Given the description of an element on the screen output the (x, y) to click on. 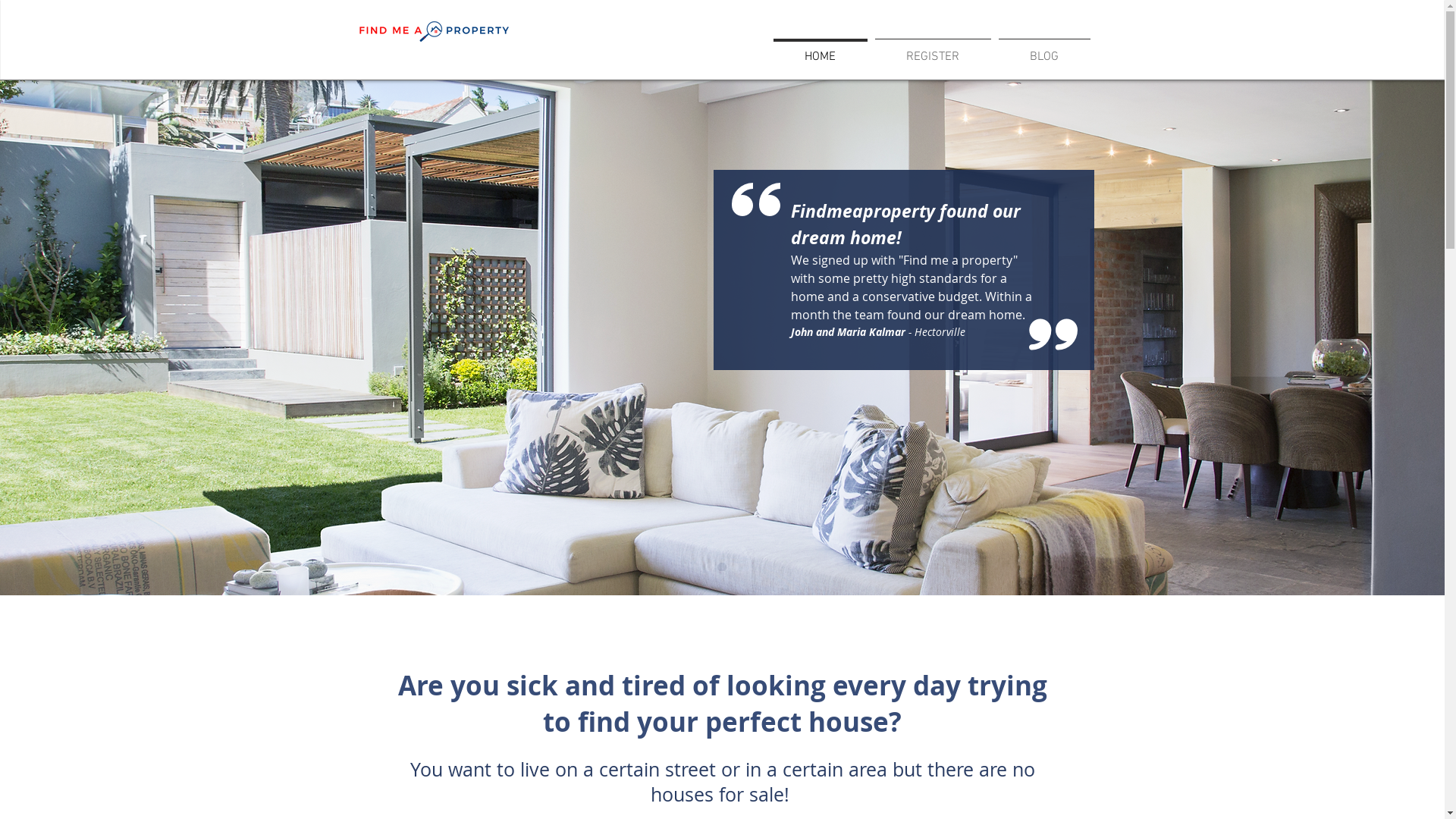
REGISTER Element type: text (932, 49)
BLOG Element type: text (1044, 49)
HOME Element type: text (819, 49)
